Given the description of an element on the screen output the (x, y) to click on. 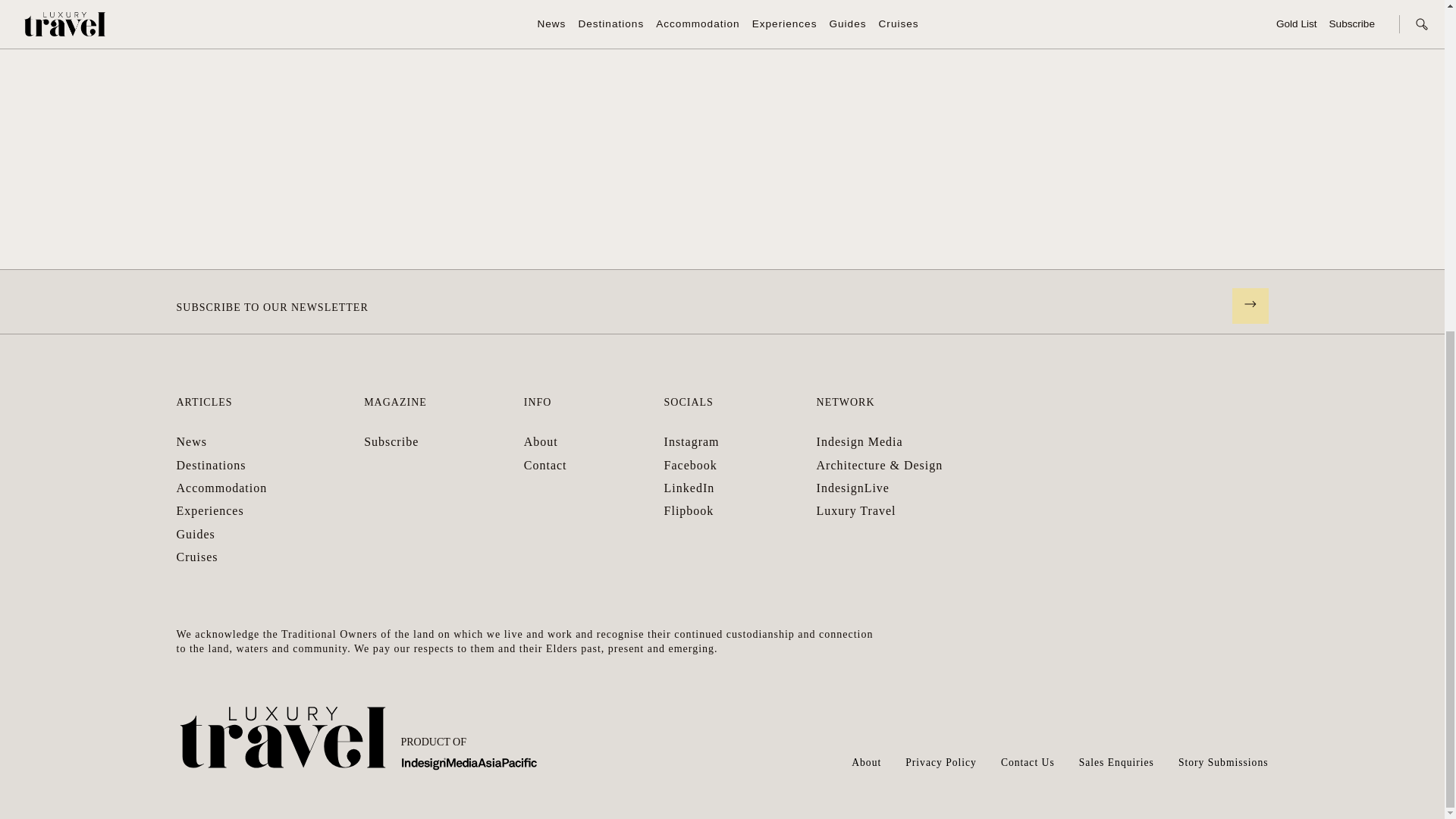
LinkedIn (688, 487)
Experiences (209, 510)
Destinations (211, 464)
Subscribe (391, 440)
Instagram (691, 440)
Accommodation (221, 487)
Contact (545, 464)
IndesignLive (852, 487)
Cruises (196, 556)
About (540, 440)
